Given the description of an element on the screen output the (x, y) to click on. 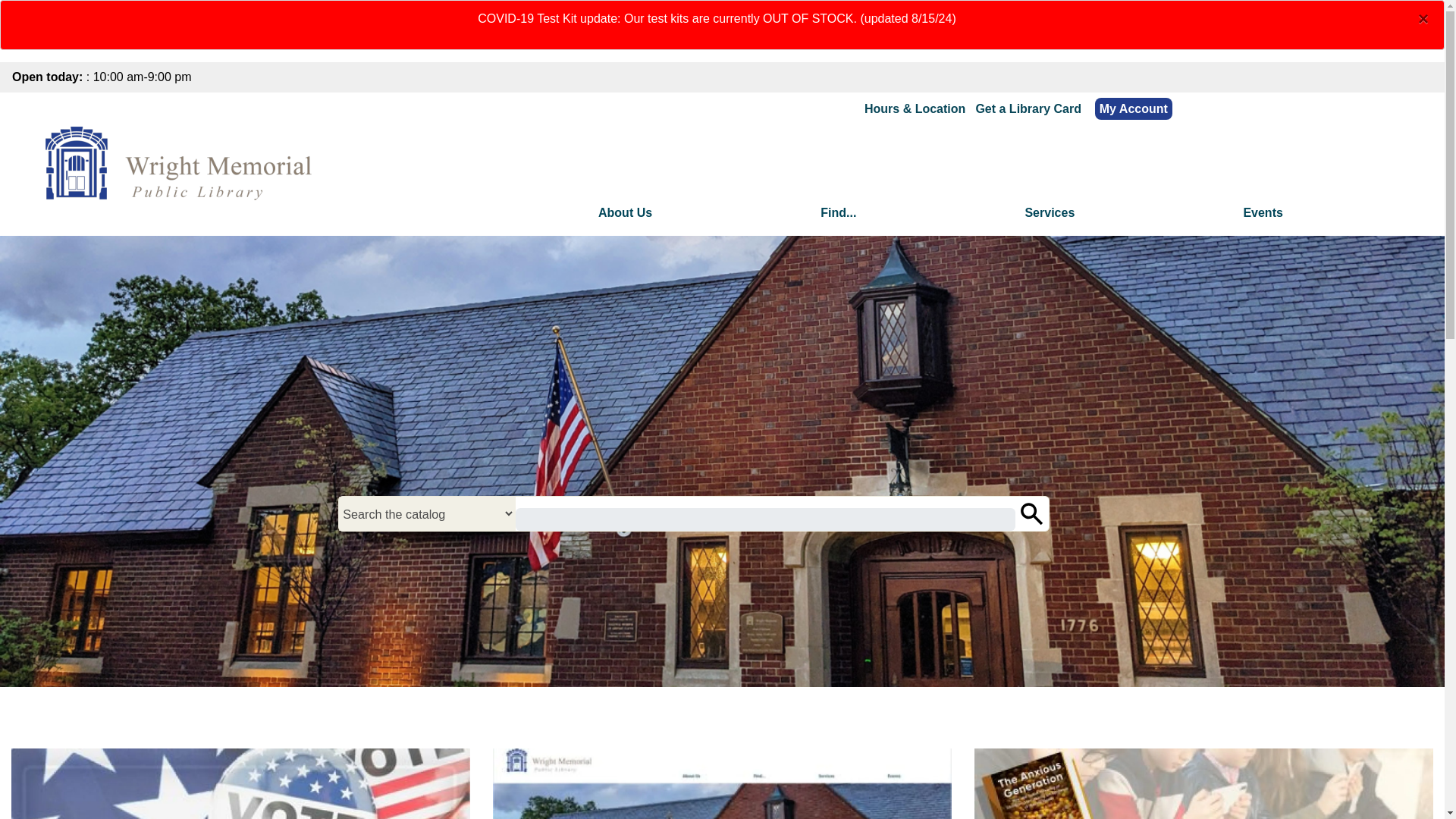
Services (1049, 212)
Skip to main content (721, 1)
Who we are (624, 212)
My Account (1133, 108)
Find... (838, 212)
Home (181, 164)
What we have (838, 212)
Get a Library Card (1028, 108)
About Us (624, 212)
